Given the description of an element on the screen output the (x, y) to click on. 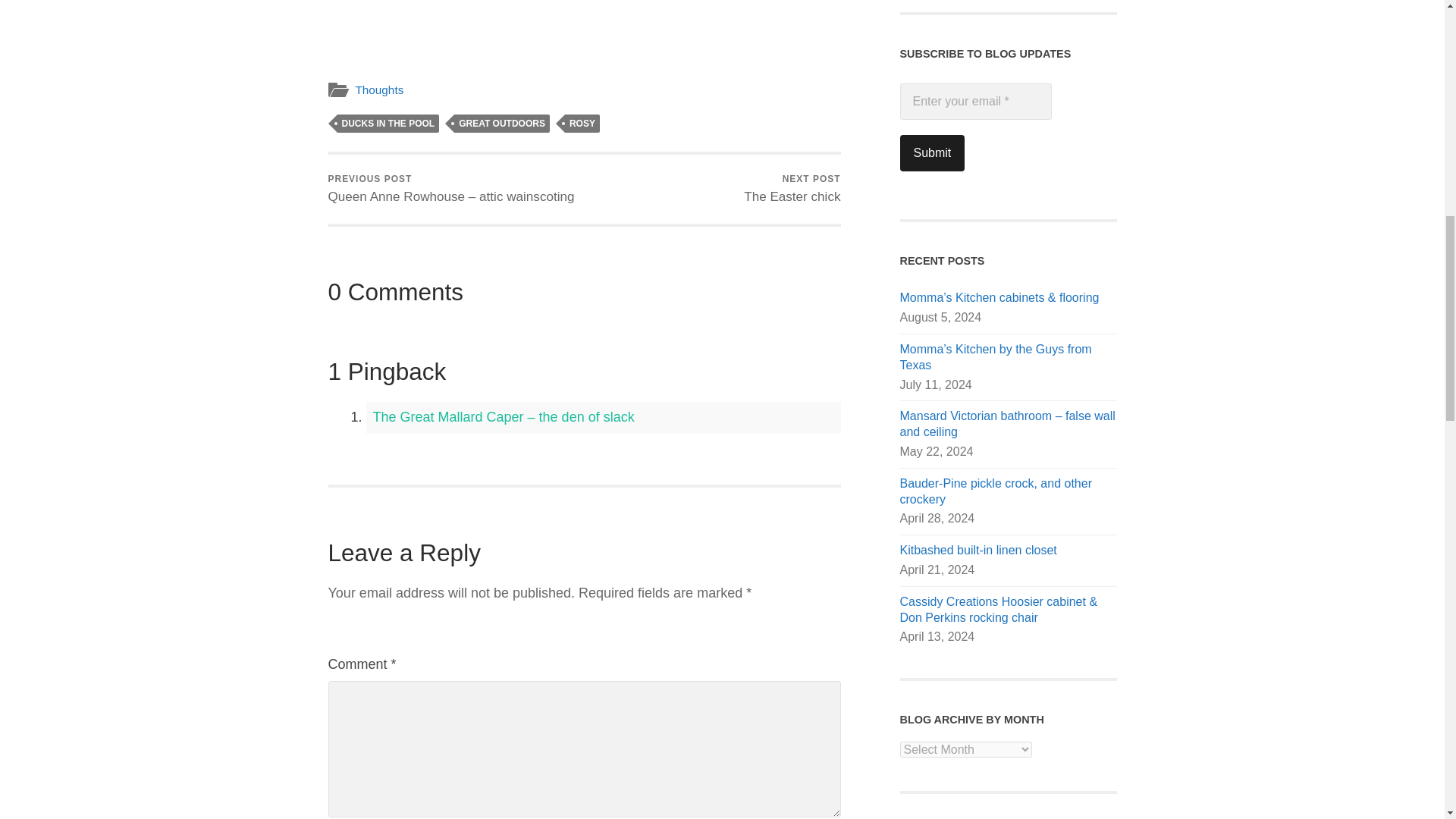
DUCKS IN THE POOL (387, 123)
ROSY (581, 123)
GREAT OUTDOORS (502, 123)
Enter your email (975, 101)
Submit (792, 188)
Thoughts (931, 153)
Submit (379, 89)
Bauder-Pine pickle crock, and other crockery (931, 153)
